Given the description of an element on the screen output the (x, y) to click on. 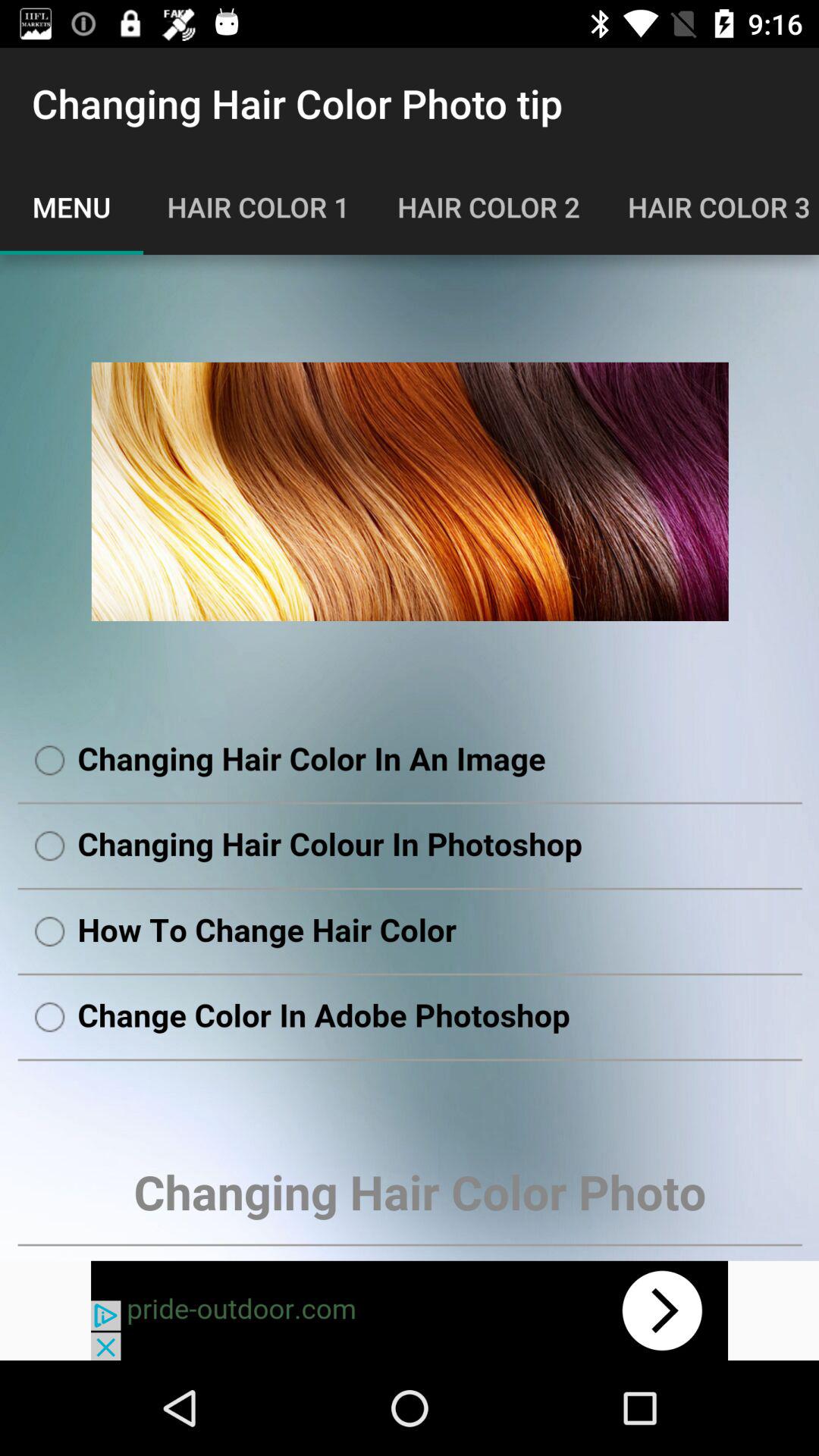
move (409, 1310)
